Given the description of an element on the screen output the (x, y) to click on. 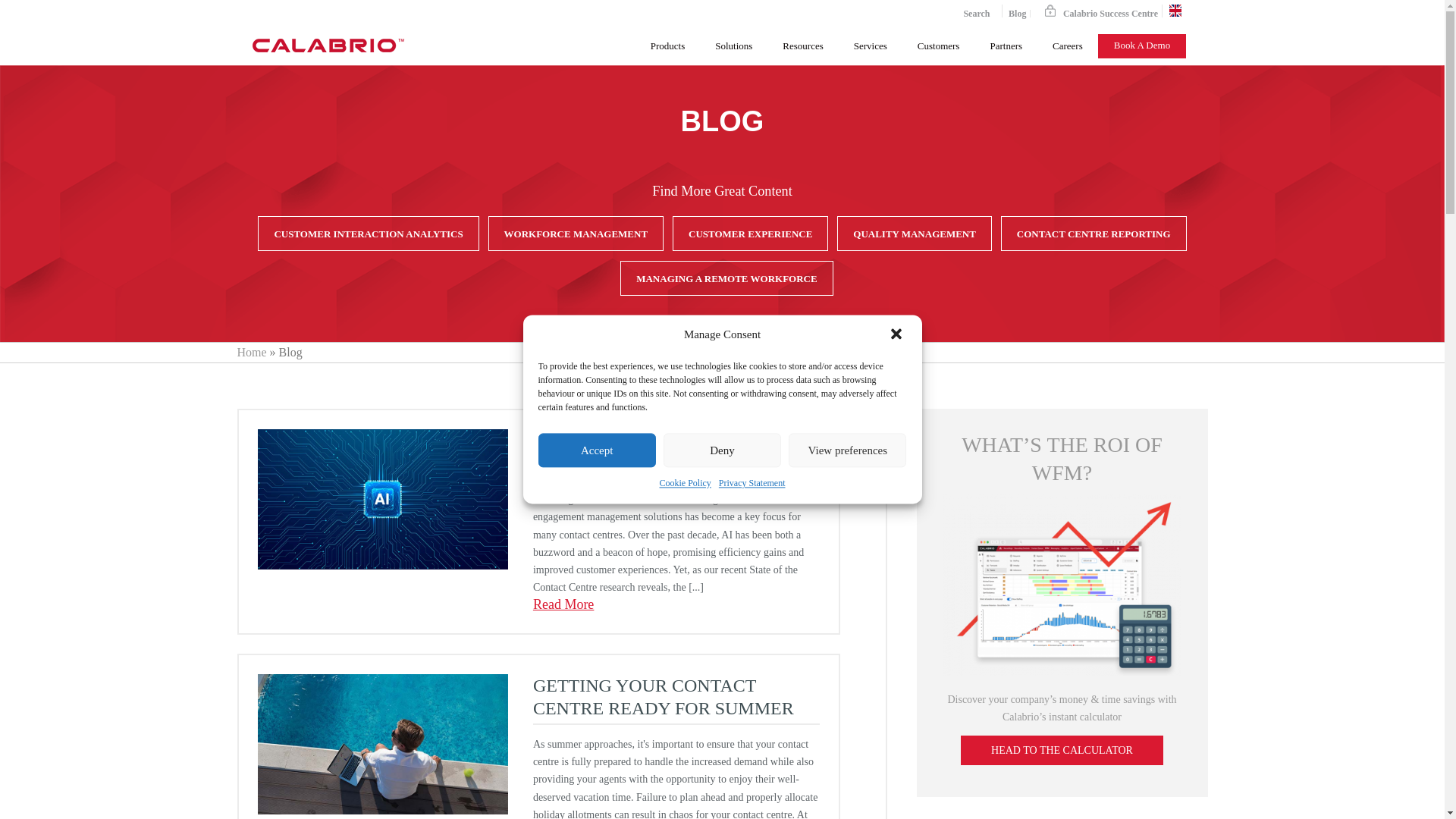
Products (667, 45)
View preferences (847, 449)
Resources (802, 45)
Cookie Policy (685, 483)
Careers (1066, 45)
Resources (802, 45)
Book A Demo (1141, 46)
Customers (938, 45)
Blog (1017, 13)
Products (667, 45)
Privacy Statement (752, 483)
Services (870, 45)
Search (970, 10)
Contact Centre Workforce Optimisation (327, 45)
Partners (1005, 45)
